Given the description of an element on the screen output the (x, y) to click on. 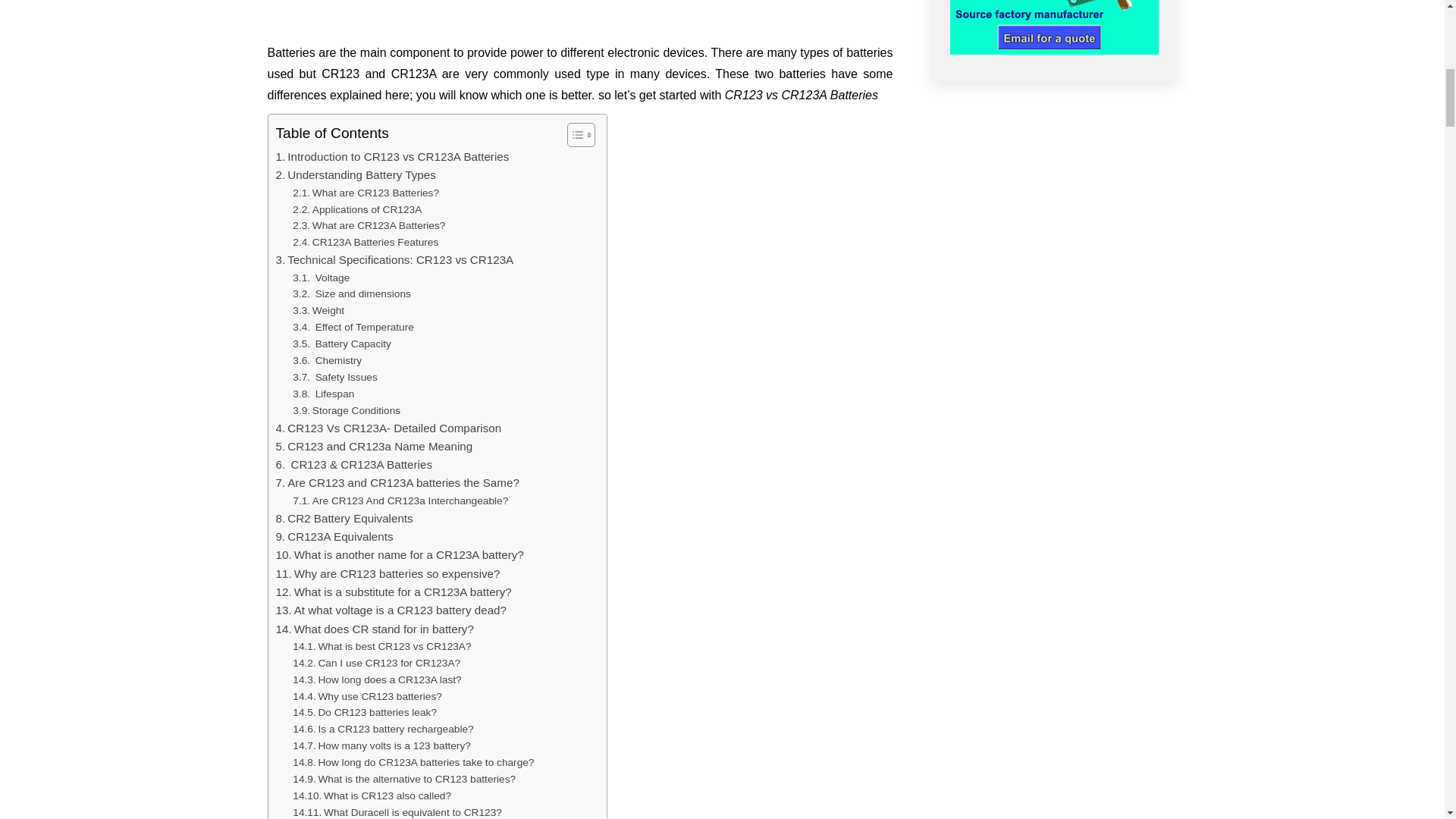
Applications of CR123A (357, 209)
Understanding Battery Types (355, 175)
What are CR123 Batteries? (365, 193)
Introduction to CR123 vs CR123A Batteries (392, 157)
